Given the description of an element on the screen output the (x, y) to click on. 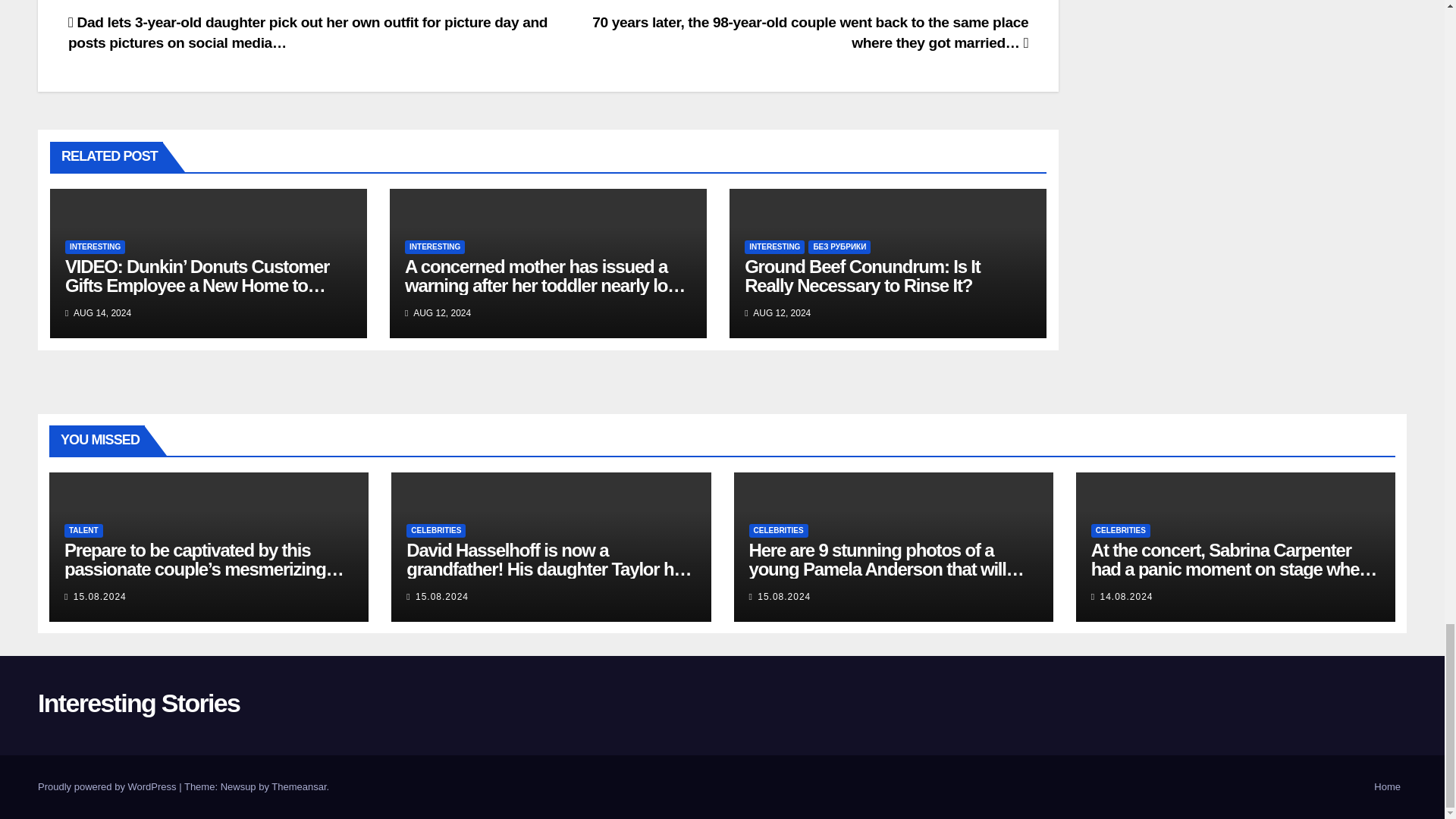
INTERESTING (95, 246)
Home (1387, 786)
INTERESTING (434, 246)
Ground Beef Conundrum: Is It Really Necessary to Rinse It? (861, 275)
INTERESTING (774, 246)
